Given the description of an element on the screen output the (x, y) to click on. 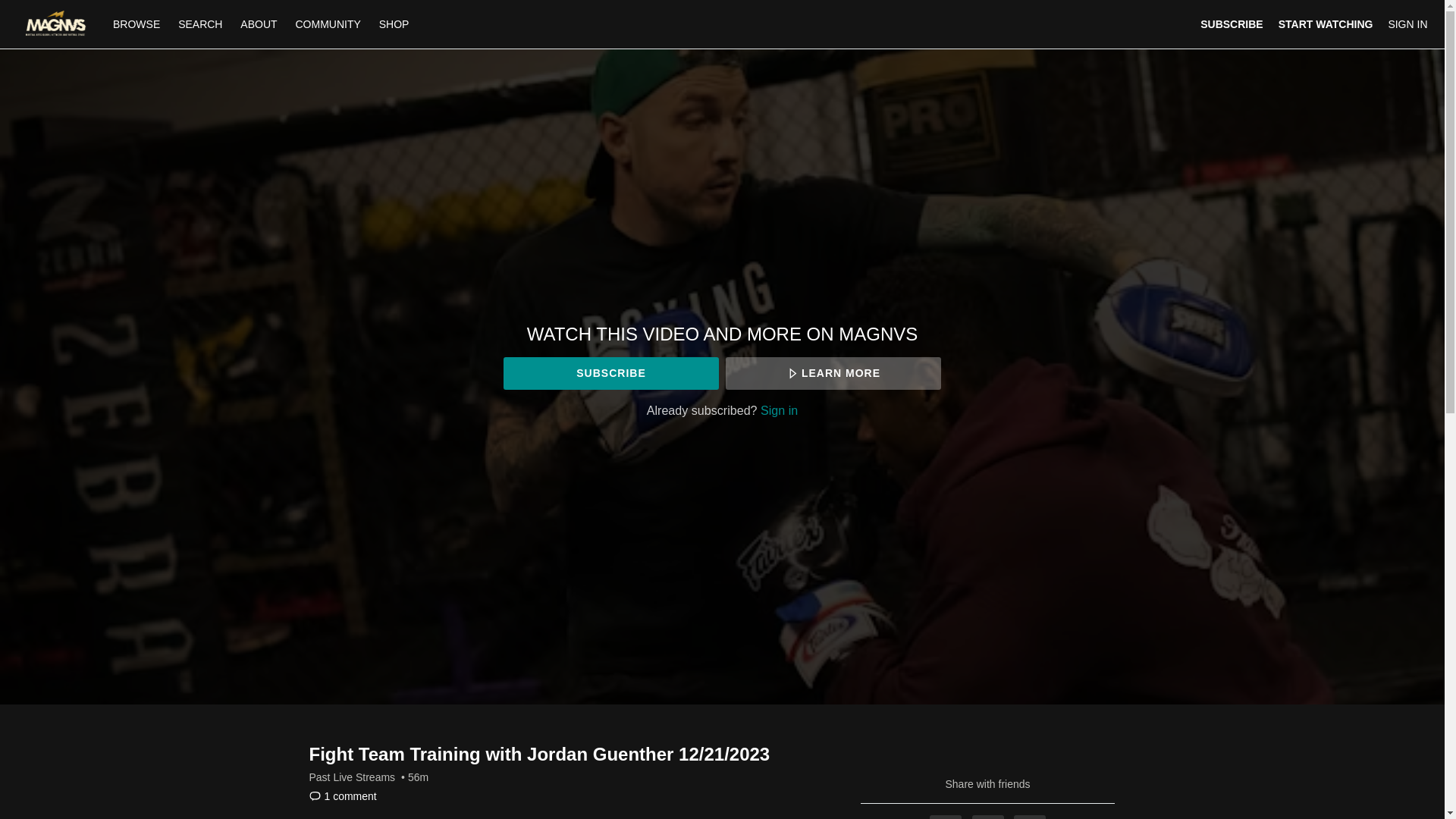
BROWSE (137, 24)
View Latest Comments (342, 796)
Past Live Streams (352, 776)
SIGN IN (1406, 24)
Skip to main content (48, 7)
1 comment (342, 796)
START WATCHING (1325, 24)
Twitter (988, 816)
COMMUNITY (327, 24)
Sign in (778, 409)
ABOUT (257, 24)
SUBSCRIBE (610, 373)
SEARCH (201, 24)
Email (1029, 816)
LEARN MORE (832, 373)
